Given the description of an element on the screen output the (x, y) to click on. 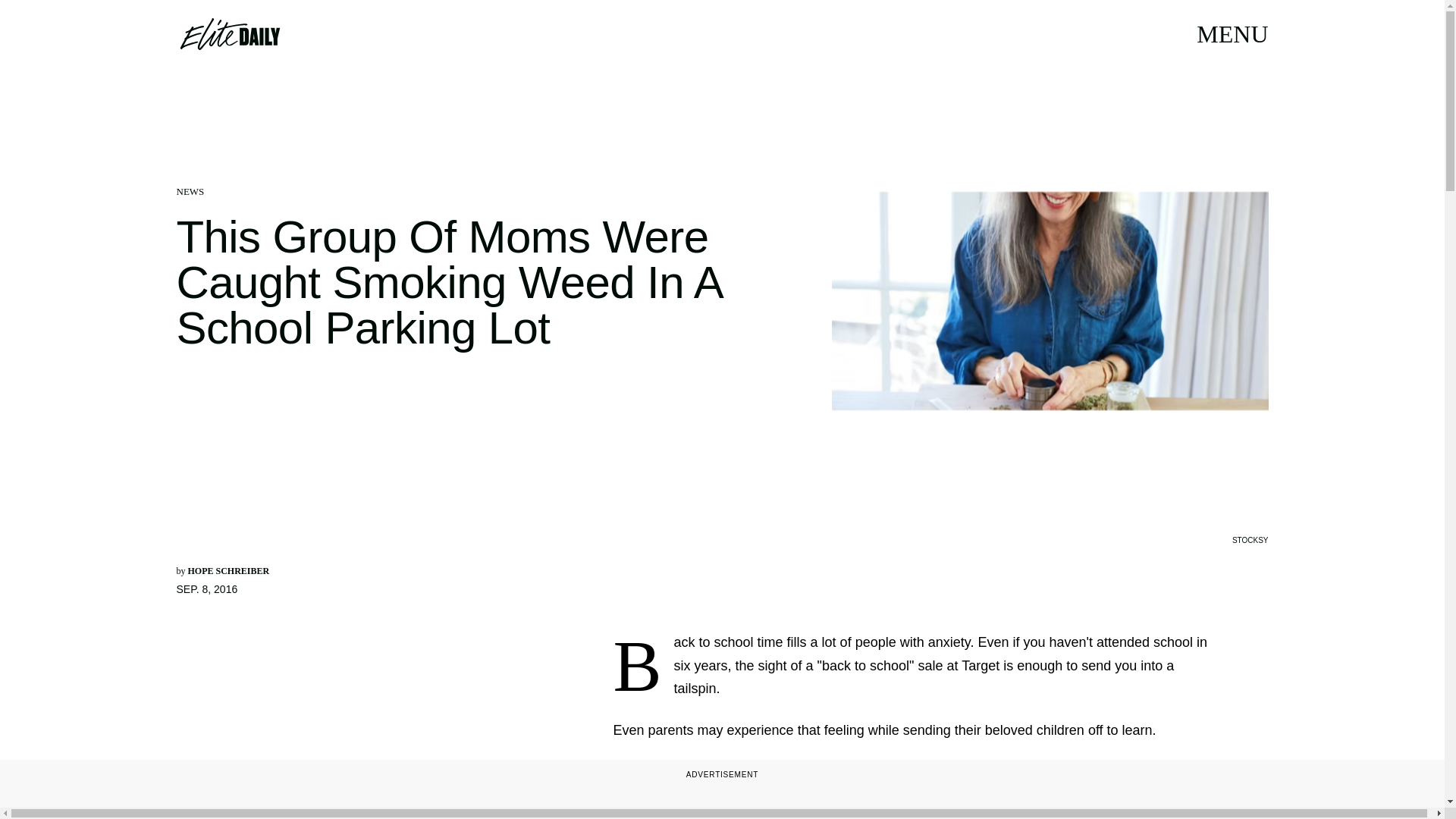
Elite Daily (229, 33)
